Given the description of an element on the screen output the (x, y) to click on. 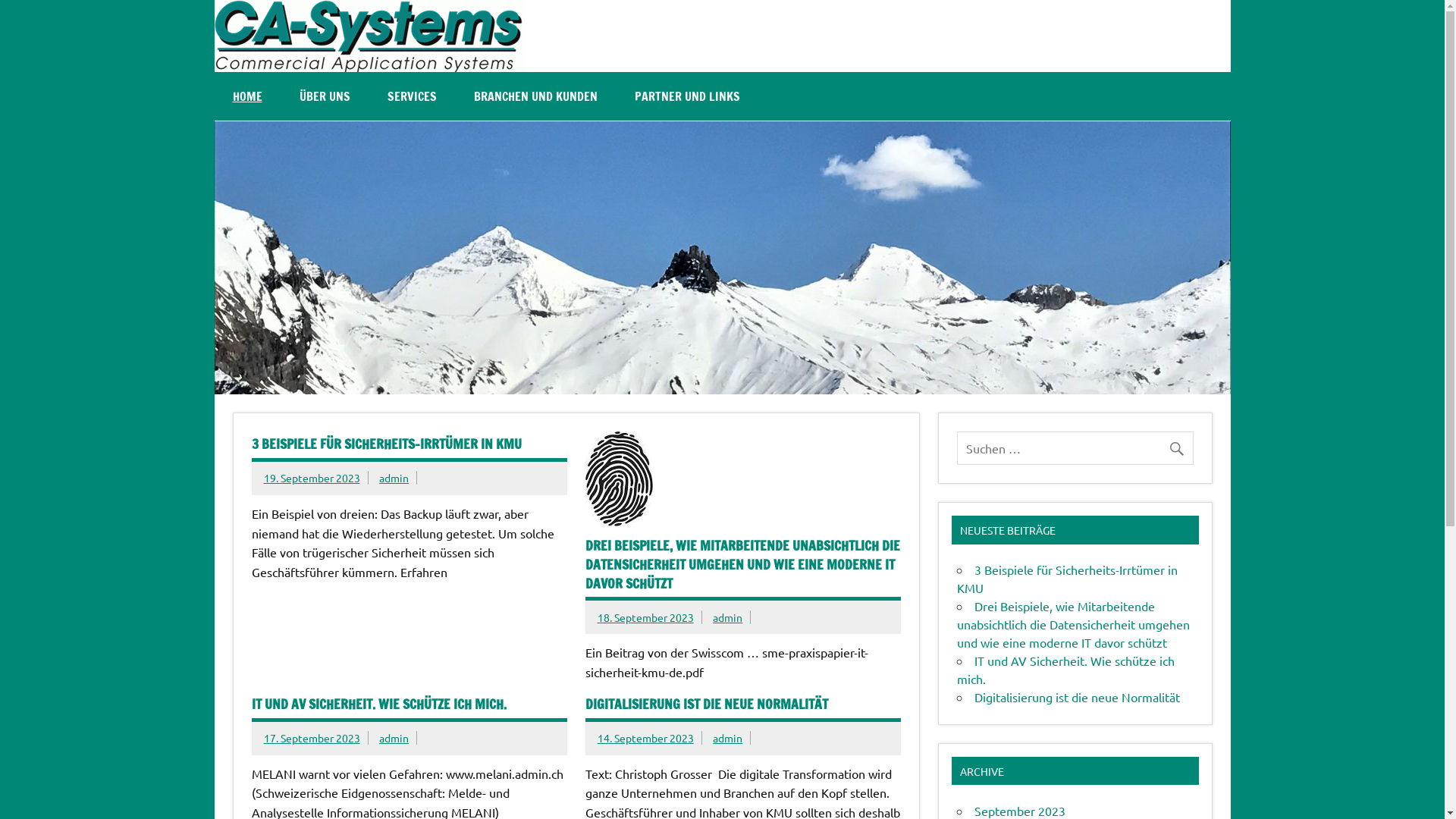
admin Element type: text (727, 617)
admin Element type: text (727, 737)
admin Element type: text (393, 737)
19. September 2023 Element type: text (311, 477)
17. September 2023 Element type: text (311, 737)
PARTNER UND LINKS Element type: text (686, 96)
BRANCHEN UND KUNDEN Element type: text (535, 96)
18. September 2023 Element type: text (645, 617)
admin Element type: text (393, 477)
September 2023 Element type: text (1019, 810)
14. September 2023 Element type: text (645, 737)
HOME Element type: text (246, 96)
SERVICES Element type: text (411, 96)
